Given the description of an element on the screen output the (x, y) to click on. 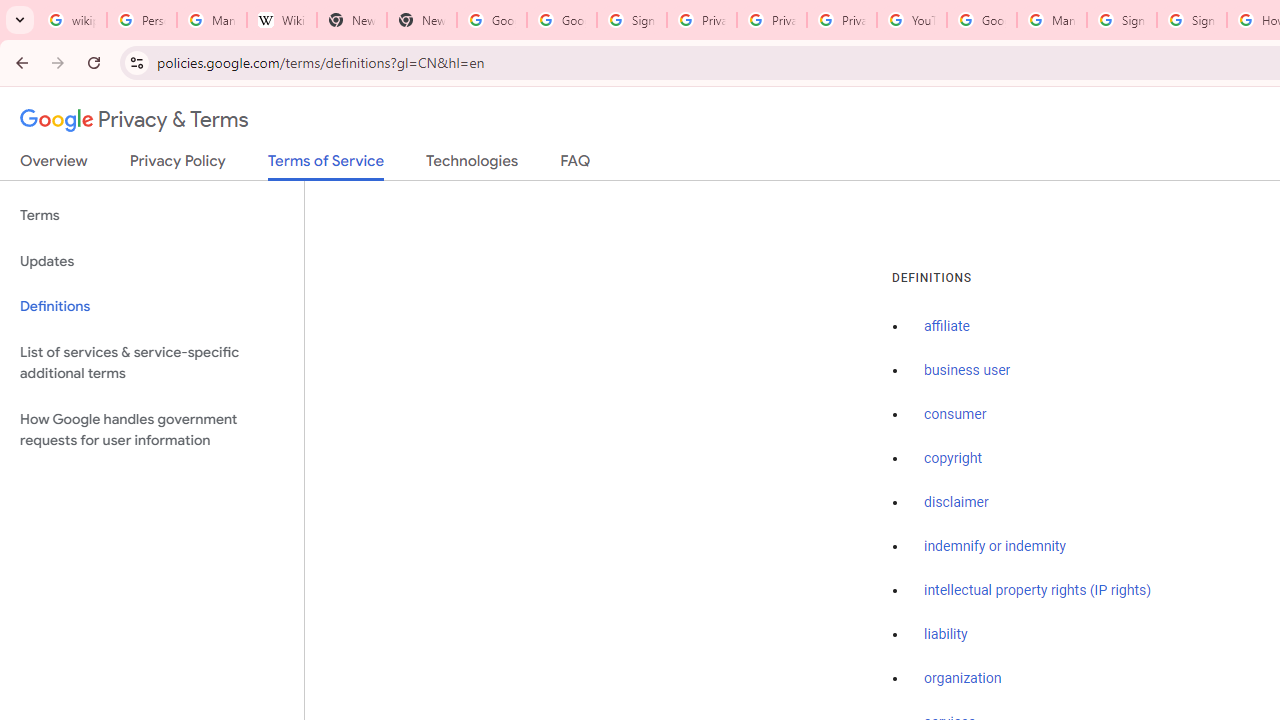
Sign in - Google Accounts (1192, 20)
How Google handles government requests for user information (152, 429)
business user (967, 371)
Wikipedia:Edit requests - Wikipedia (282, 20)
New Tab (351, 20)
affiliate (947, 327)
indemnify or indemnity (995, 546)
